Given the description of an element on the screen output the (x, y) to click on. 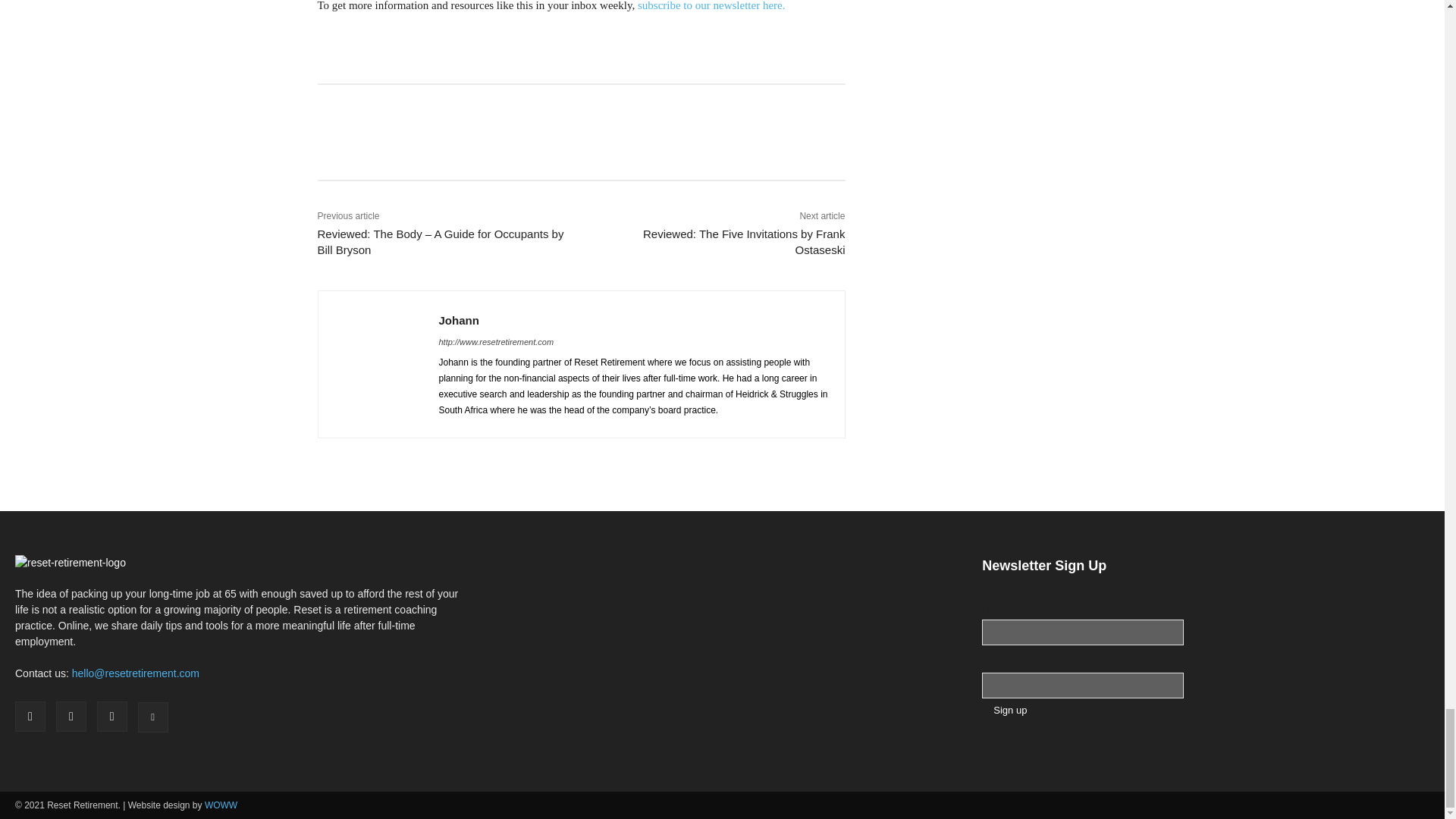
Sign up (1009, 709)
